Given the description of an element on the screen output the (x, y) to click on. 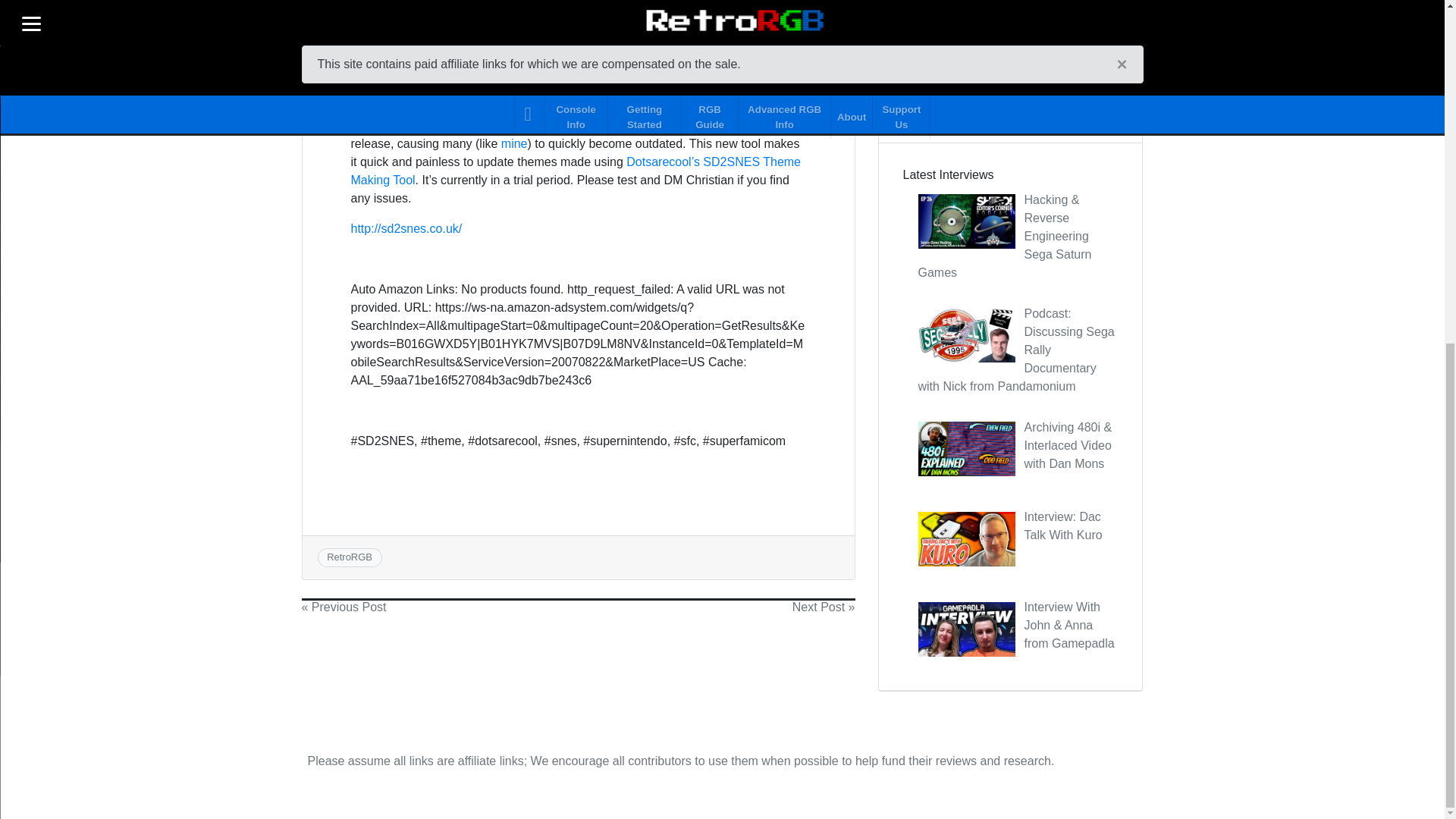
online tool (482, 70)
Christian (373, 70)
Interview: Dac Talk With Kuro (1062, 525)
RetroRGB (349, 556)
mine (513, 143)
RetroRGB Weekly Roundup (1010, 56)
